Given the description of an element on the screen output the (x, y) to click on. 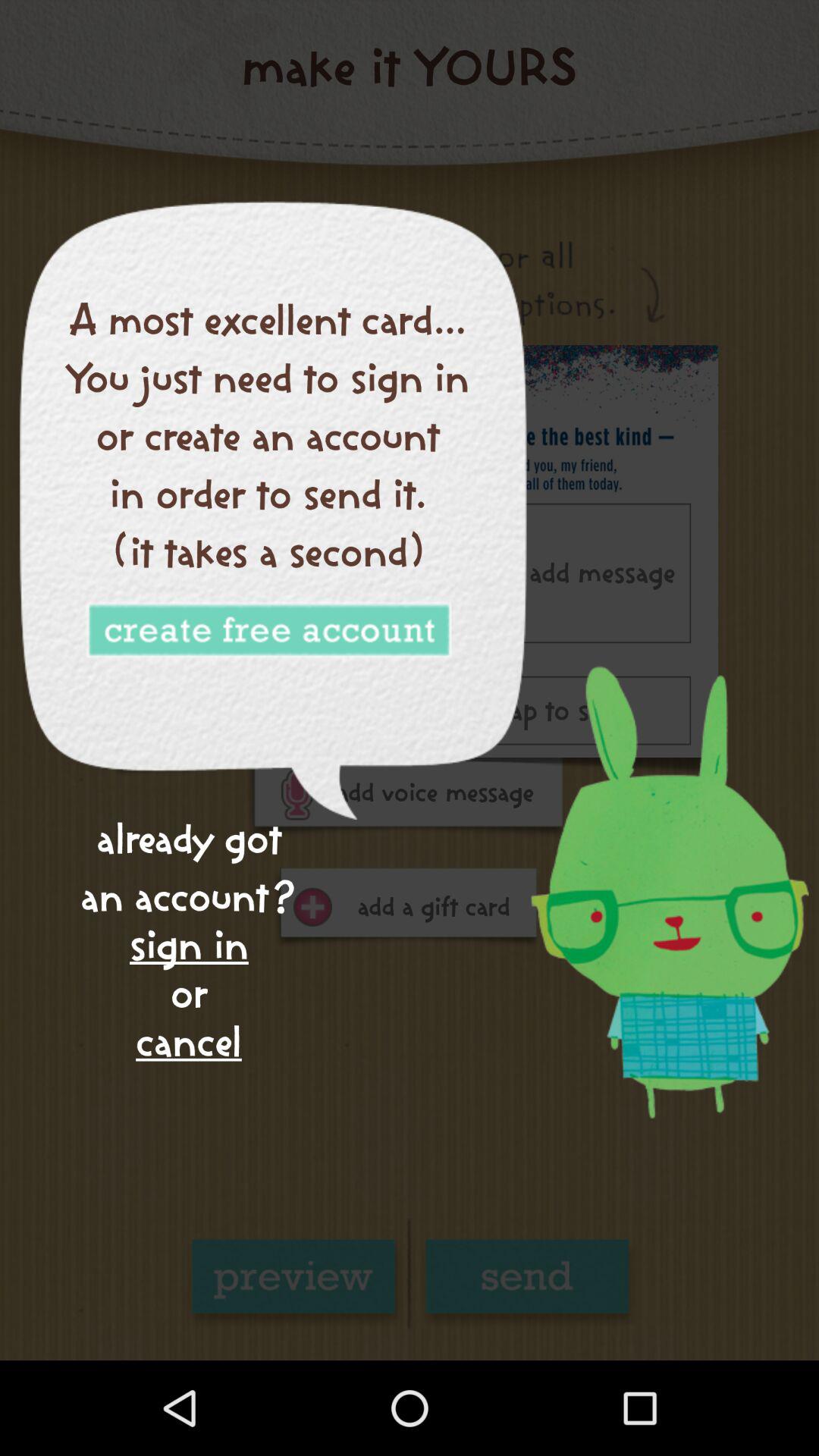
select cancel icon (188, 1041)
